Given the description of an element on the screen output the (x, y) to click on. 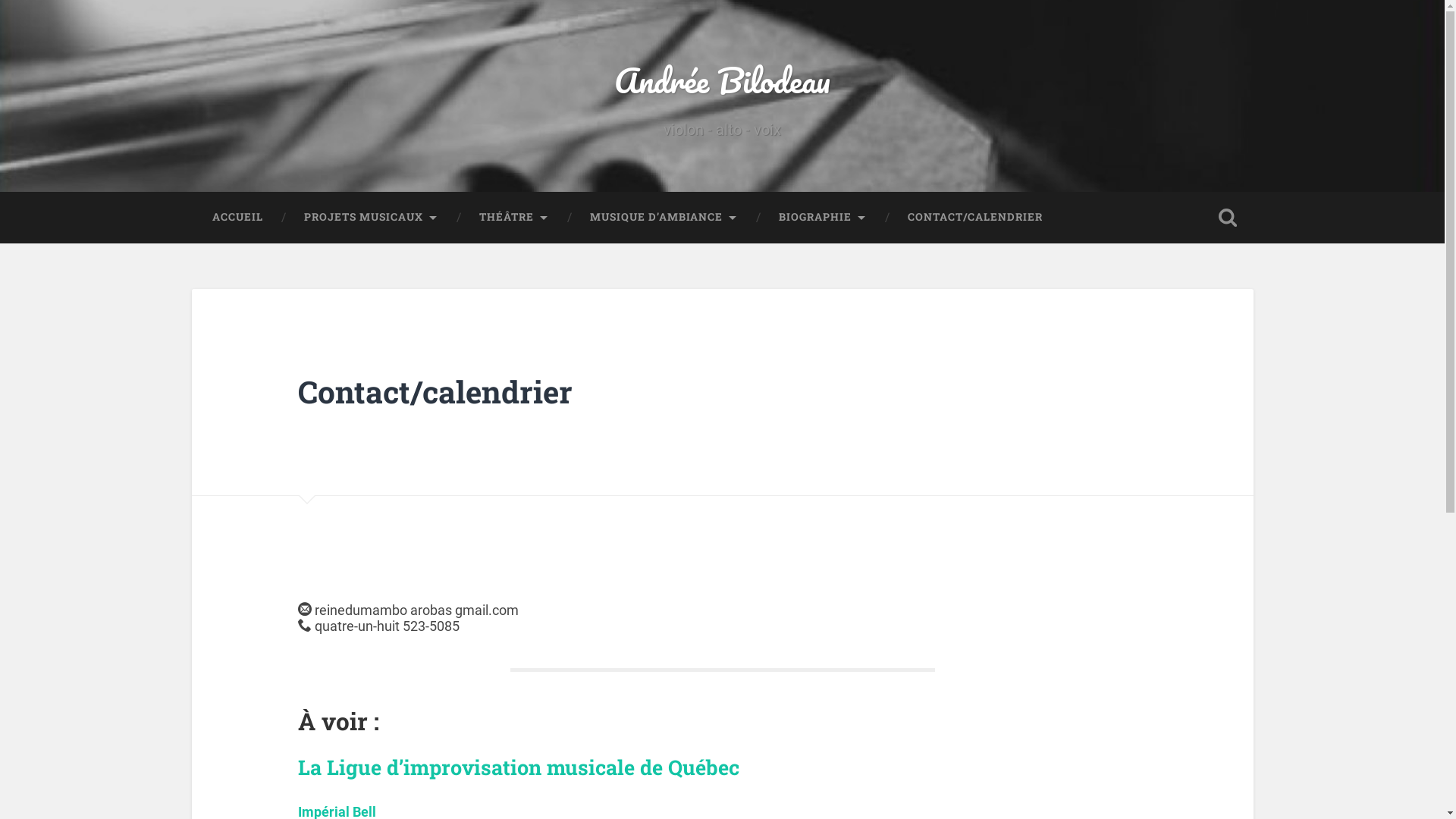
CONTACT/CALENDRIER Element type: text (975, 217)
BIOGRAPHIE Element type: text (822, 217)
PROJETS MUSICAUX Element type: text (370, 217)
ACCUEIL Element type: text (236, 217)
